Given the description of an element on the screen output the (x, y) to click on. 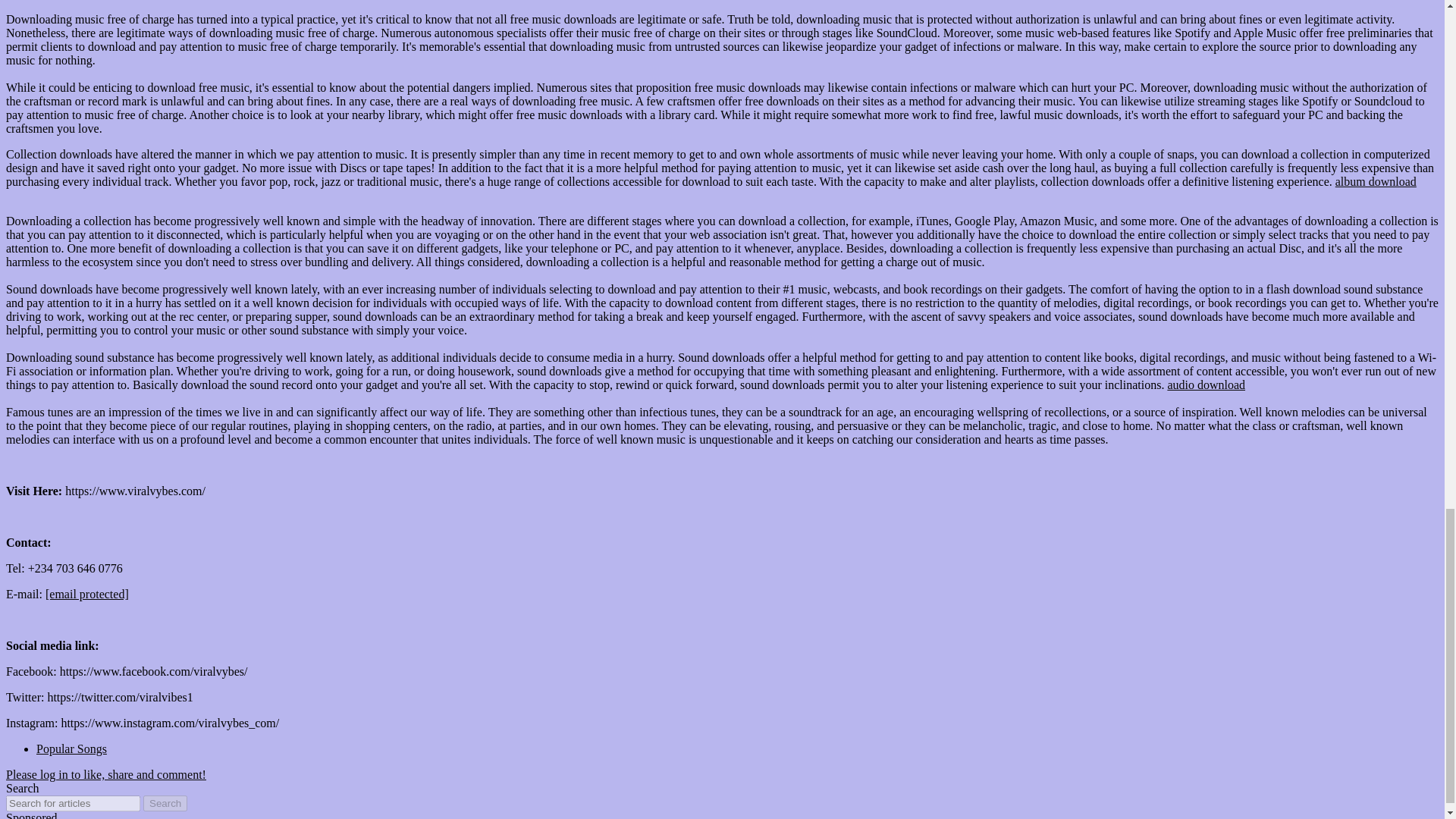
Please log in to like, share and comment! (105, 774)
album download (1375, 181)
Popular Songs (71, 748)
audio download (1205, 384)
Search (164, 803)
